Given the description of an element on the screen output the (x, y) to click on. 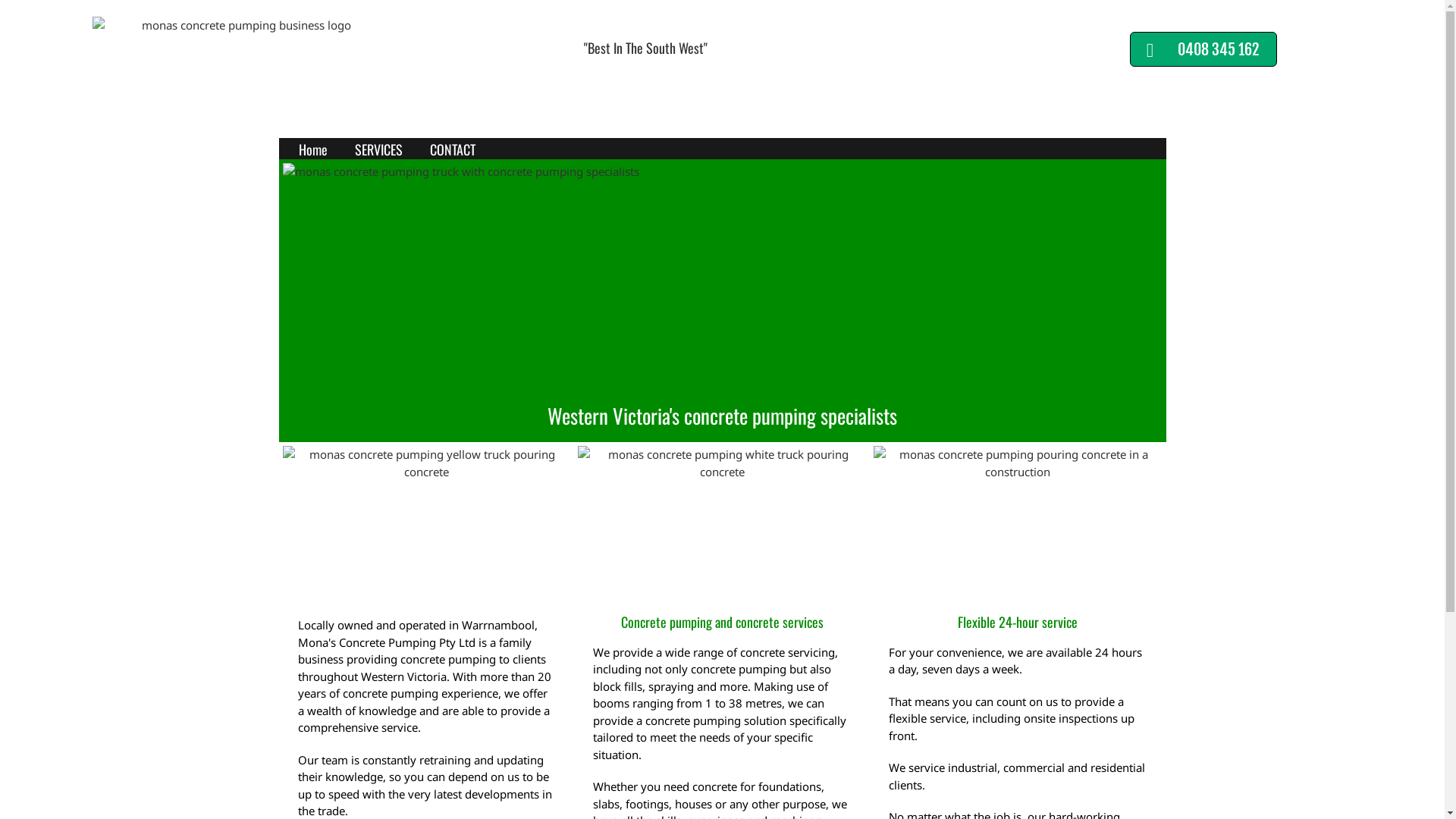
0408 345 162 Element type: text (1203, 48)
monas concrete pumping white truck pouring concrete Element type: hover (721, 517)
CONTACT Element type: text (451, 149)
monas concrete pumping business logo Element type: hover (240, 49)
monas concrete pumping pouring concrete in a construction Element type: hover (1017, 517)
Home Element type: text (312, 149)
SERVICES Element type: text (378, 149)
monas concrete pumping yellow truck pouring concrete Element type: hover (426, 517)
